Given the description of an element on the screen output the (x, y) to click on. 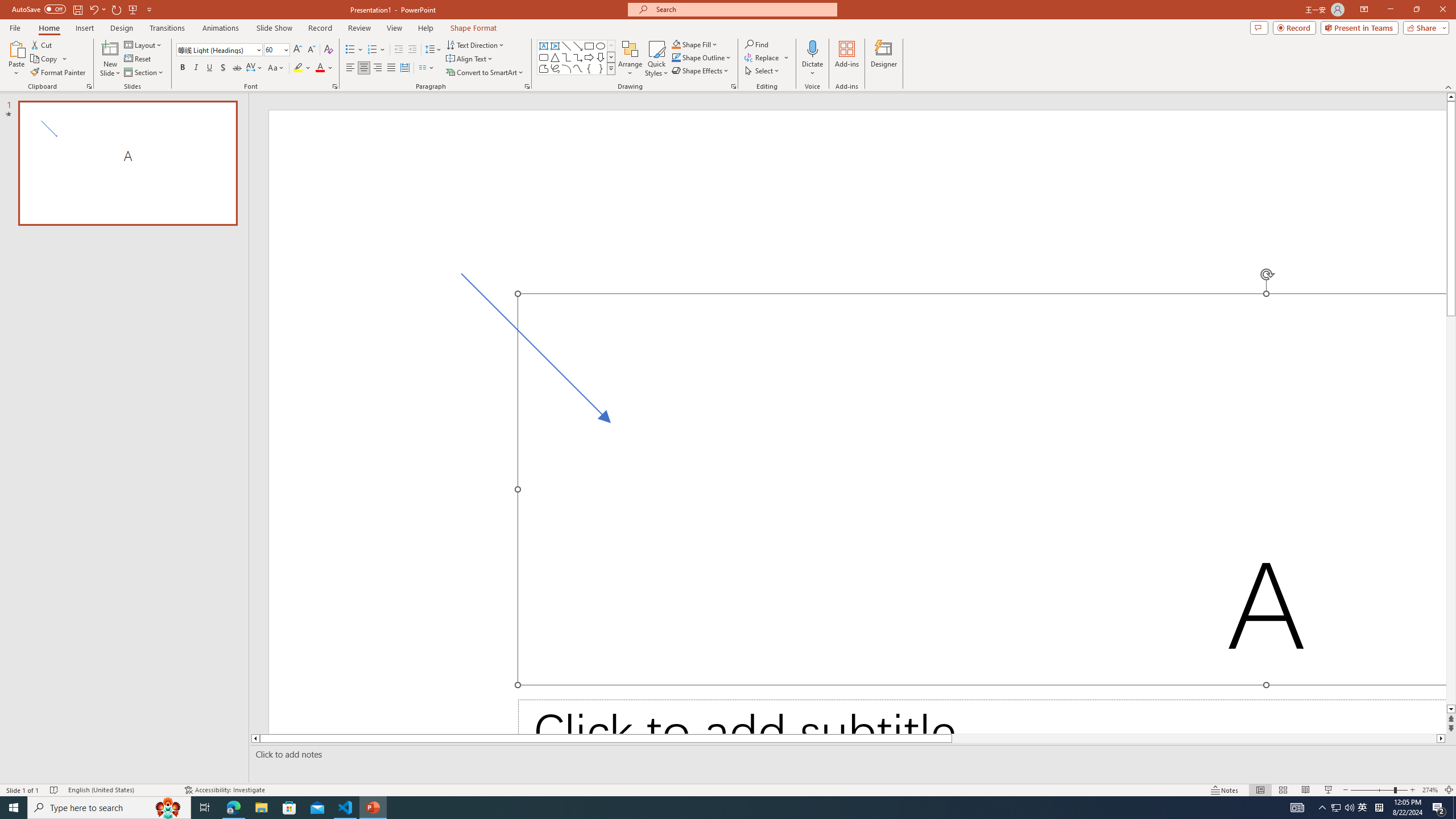
Shape Effects (700, 69)
